Given the description of an element on the screen output the (x, y) to click on. 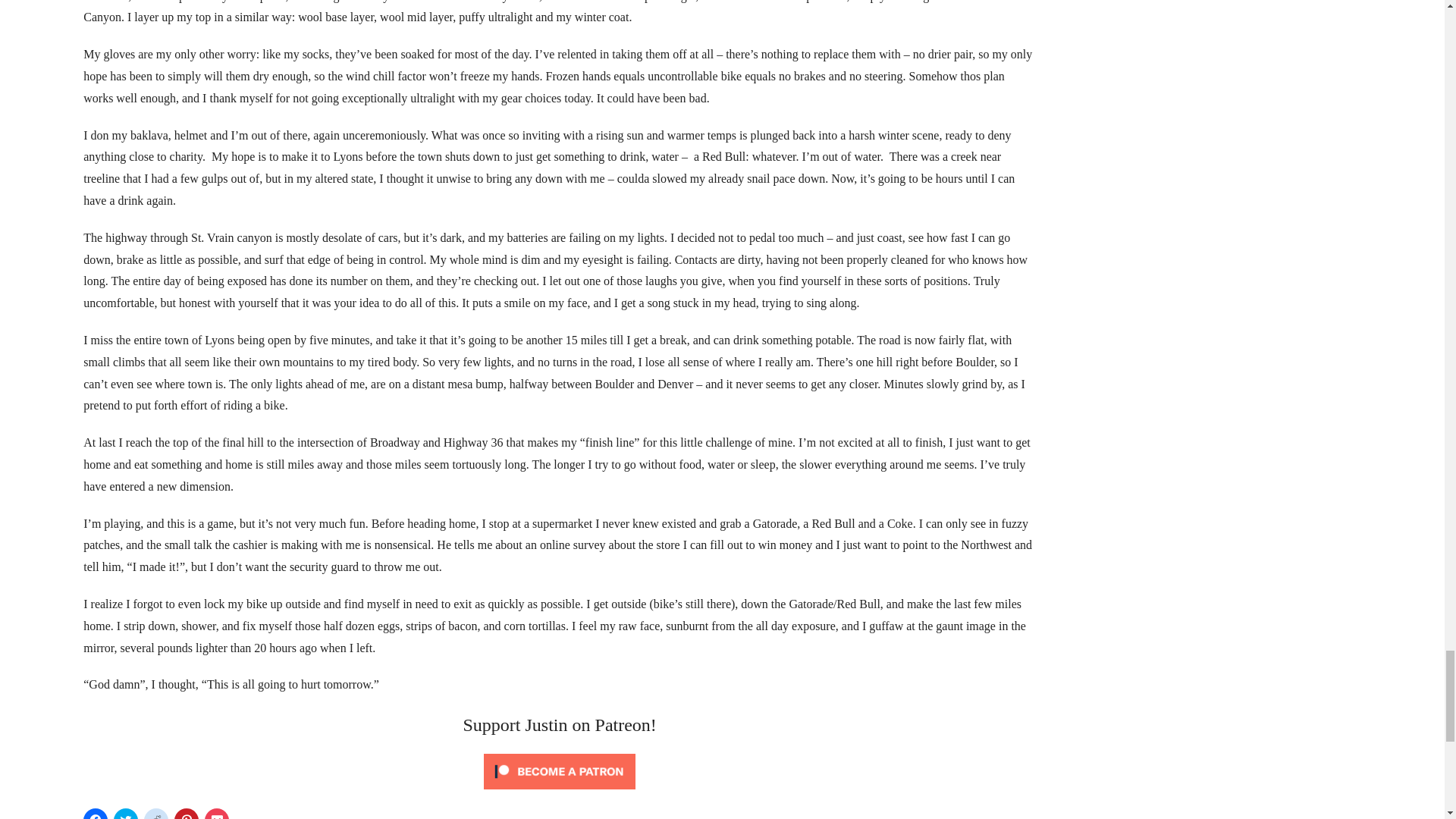
Click to share on Twitter (125, 813)
Click to share on Pocket (216, 813)
Click to share on Pinterest (186, 813)
Click to share on Reddit (156, 813)
Click to share on Facebook (94, 813)
